Given the description of an element on the screen output the (x, y) to click on. 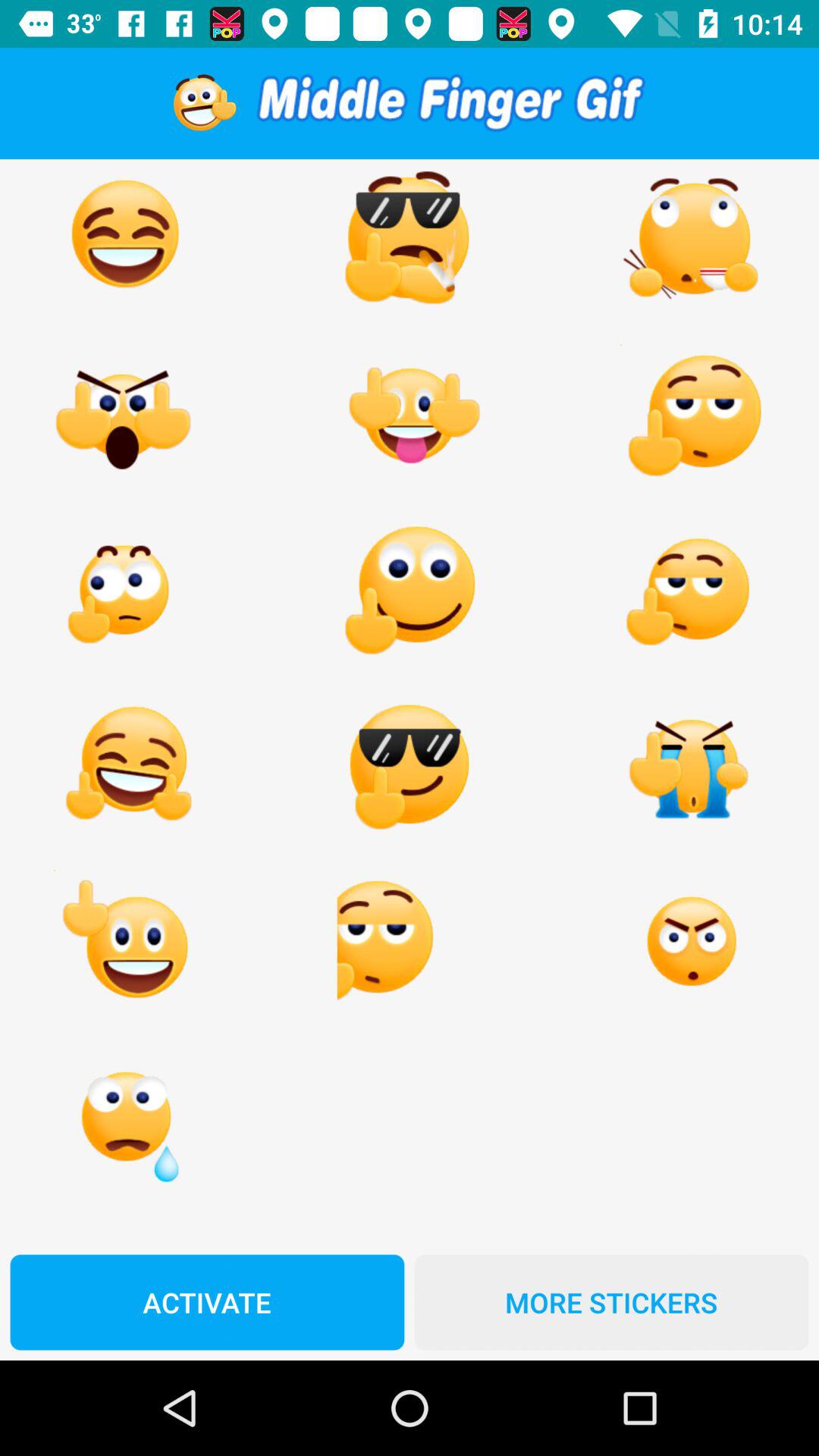
select the 3rd left side emoji (125, 591)
click on first gif from second row (125, 416)
first emoji in fourth row of the page (125, 766)
click on first row second image (408, 241)
click the second emoji in the last but one line (408, 941)
select the text in blue bar on the top (450, 103)
click on emoji which is above the activate (125, 1117)
click on the emoji which is placed at fourth row third column (691, 766)
select the middle finger gif in second row third coloumn (691, 416)
